Given the description of an element on the screen output the (x, y) to click on. 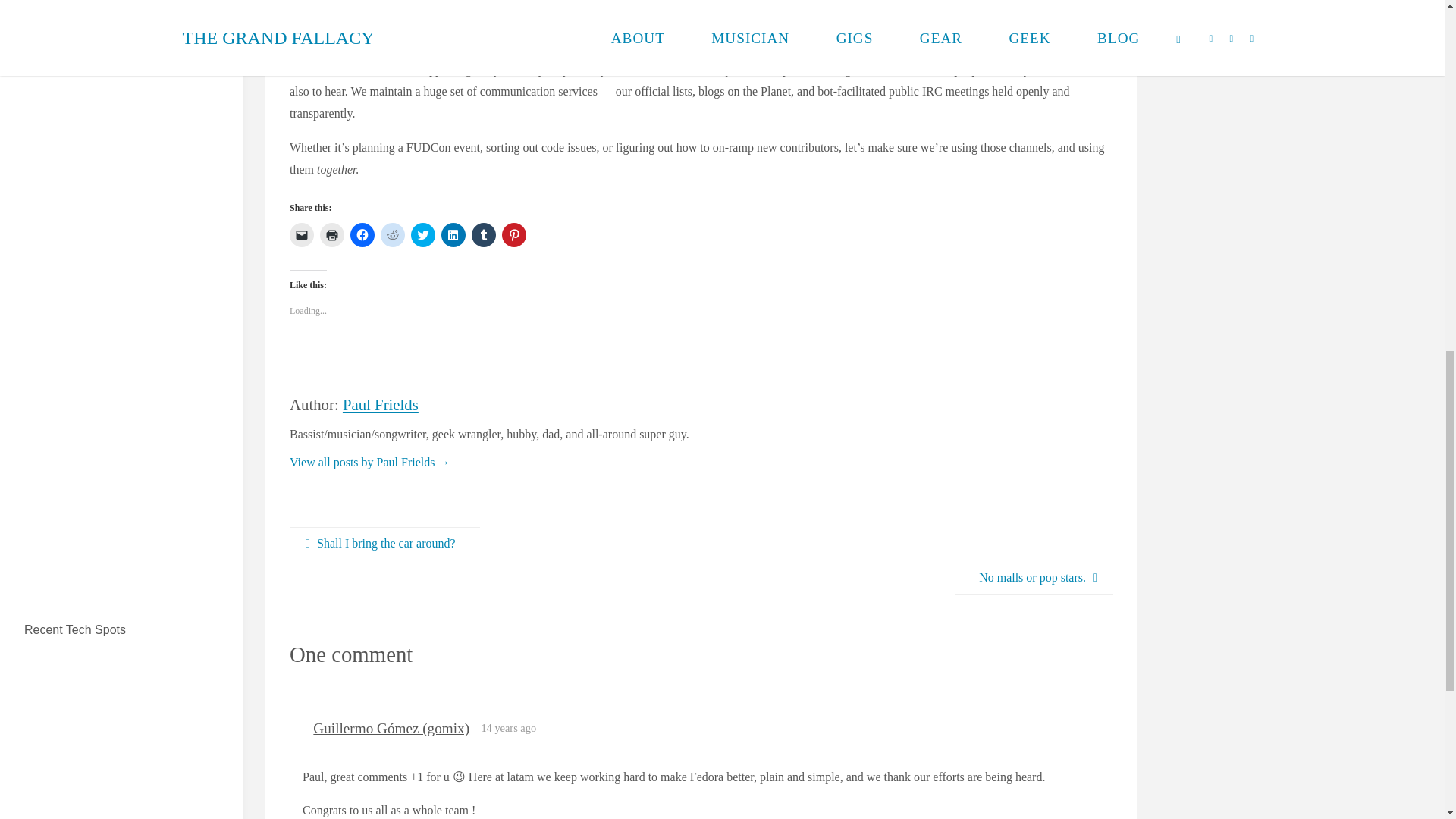
Click to share on Tumblr (483, 234)
Click to share on Twitter (422, 234)
Click to share on LinkedIn (453, 234)
Click to share on Facebook (362, 234)
Click to share on Pinterest (513, 234)
Click to share on Reddit (392, 234)
No malls or pop stars. (1034, 578)
Click to print (331, 234)
Click to email a link to a friend (301, 234)
Shall I bring the car around? (384, 544)
